Given the description of an element on the screen output the (x, y) to click on. 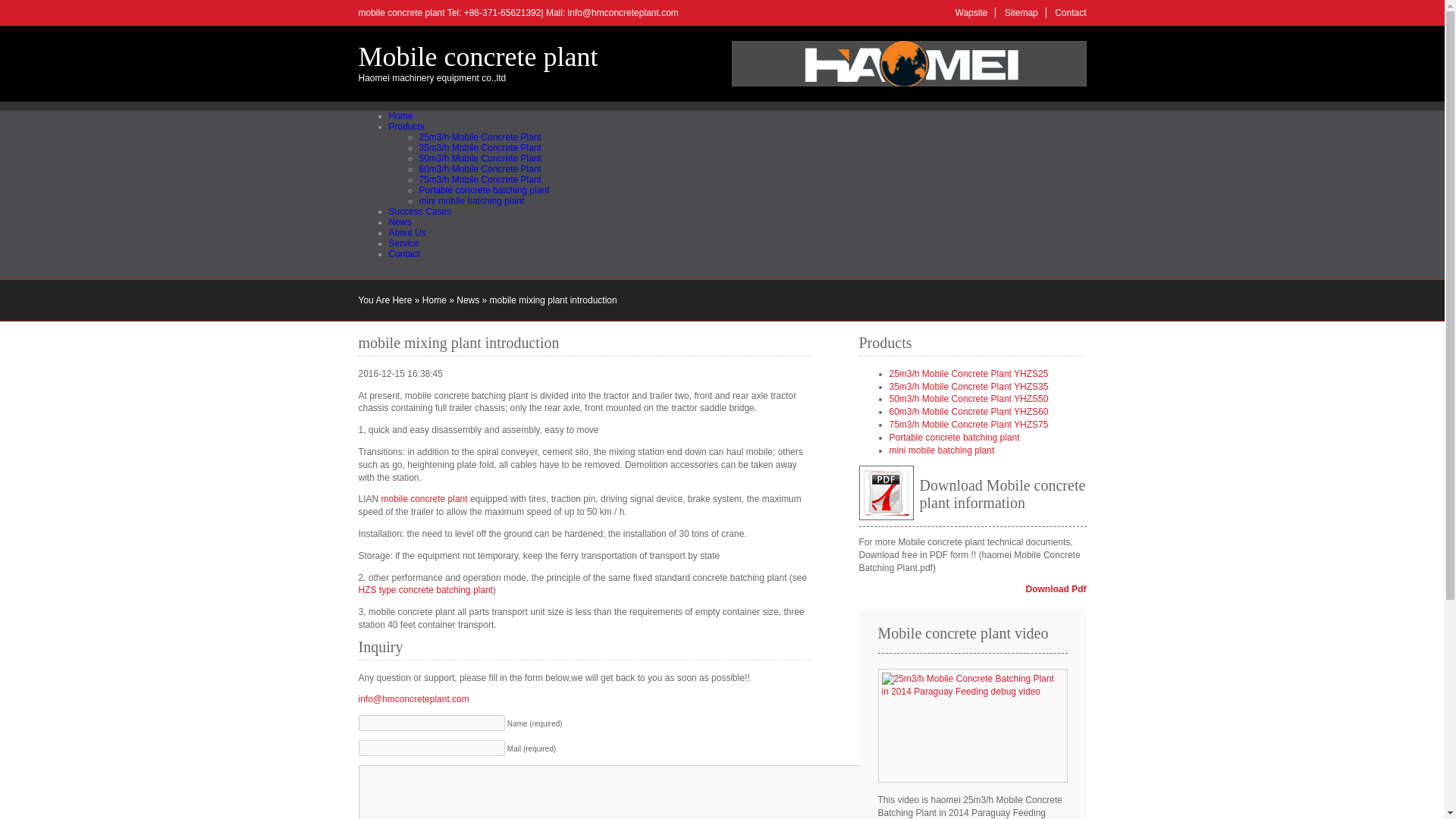
Portable concrete batching plant (483, 190)
Success Cases (419, 211)
YHZS25 Mobile Concrete Plant (479, 136)
YHZS25 Mobile Concrete Plant (968, 373)
About Us (406, 232)
mini mobile batching plant (941, 450)
Products (405, 126)
News (399, 222)
YHZS35 Mobile Concrete Plant (968, 386)
Contact (403, 253)
Portable concrete batching plant (483, 190)
mini mobile batching plant (471, 200)
YHZS35 Mobile Concrete Plant (479, 147)
Download Pdf (1055, 588)
YHZS75 Mobile Concrete Plant (479, 179)
